Given the description of an element on the screen output the (x, y) to click on. 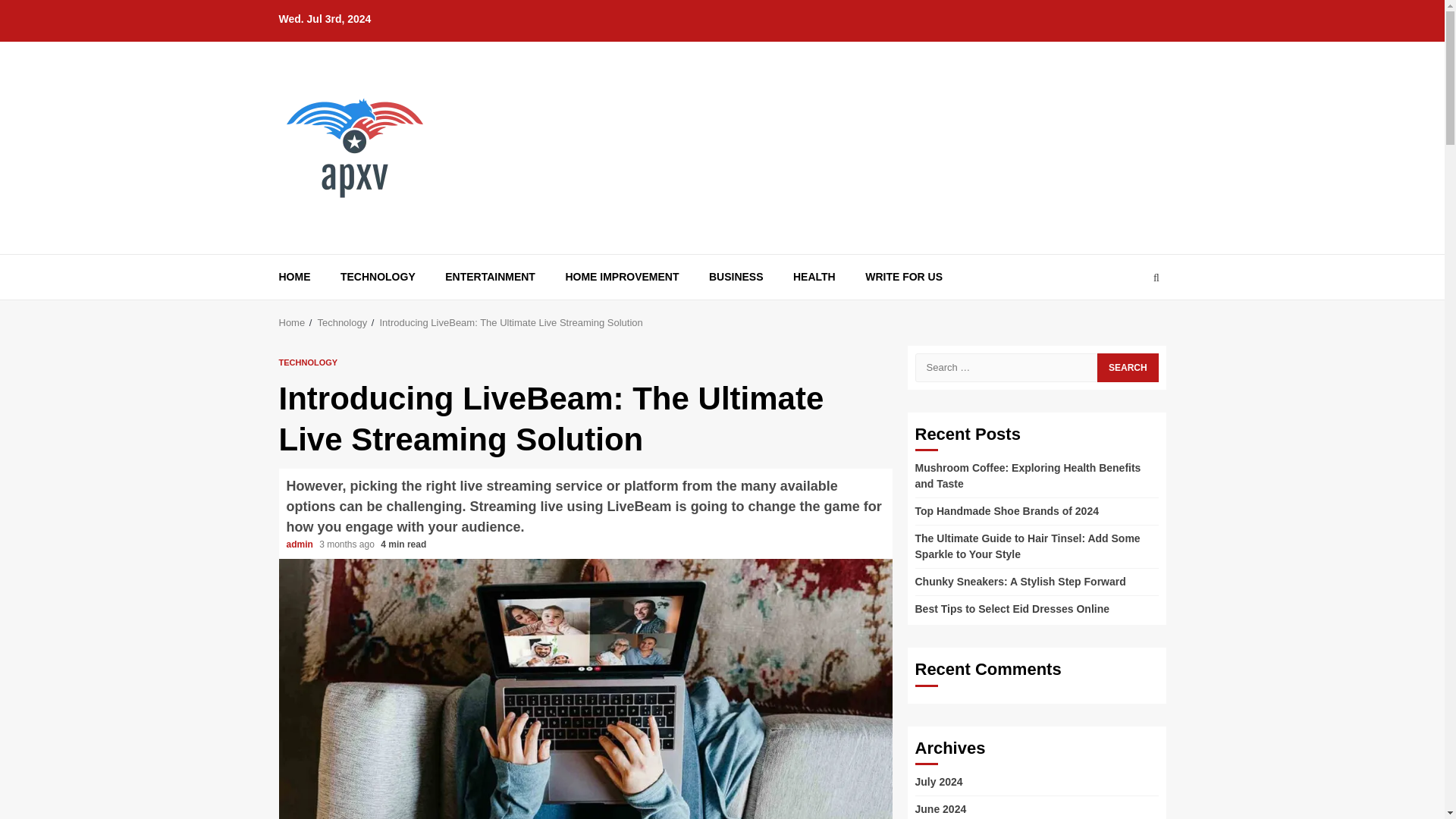
TECHNOLOGY (377, 277)
Search (1156, 276)
Search (1127, 367)
TECHNOLOGY (308, 361)
Search (1126, 322)
Technology (341, 322)
HOME (295, 277)
HEALTH (814, 277)
Home (292, 322)
admin (300, 543)
Introducing LiveBeam: The Ultimate Live Streaming Solution (510, 322)
HOME IMPROVEMENT (621, 277)
WRITE FOR US (903, 277)
ENTERTAINMENT (490, 277)
BUSINESS (735, 277)
